Given the description of an element on the screen output the (x, y) to click on. 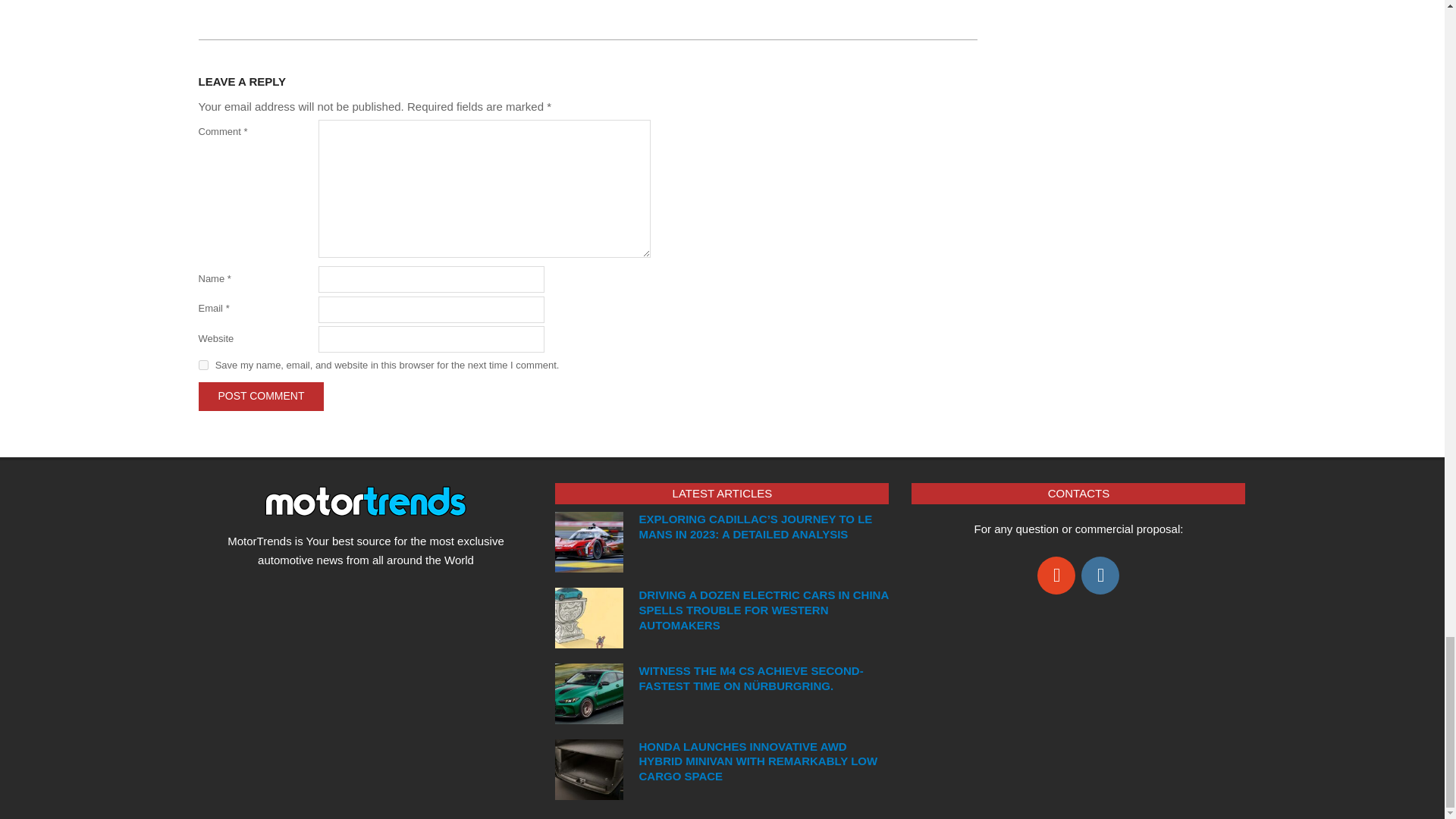
Post Comment (261, 396)
yes (203, 365)
Post Comment (261, 396)
